Given the description of an element on the screen output the (x, y) to click on. 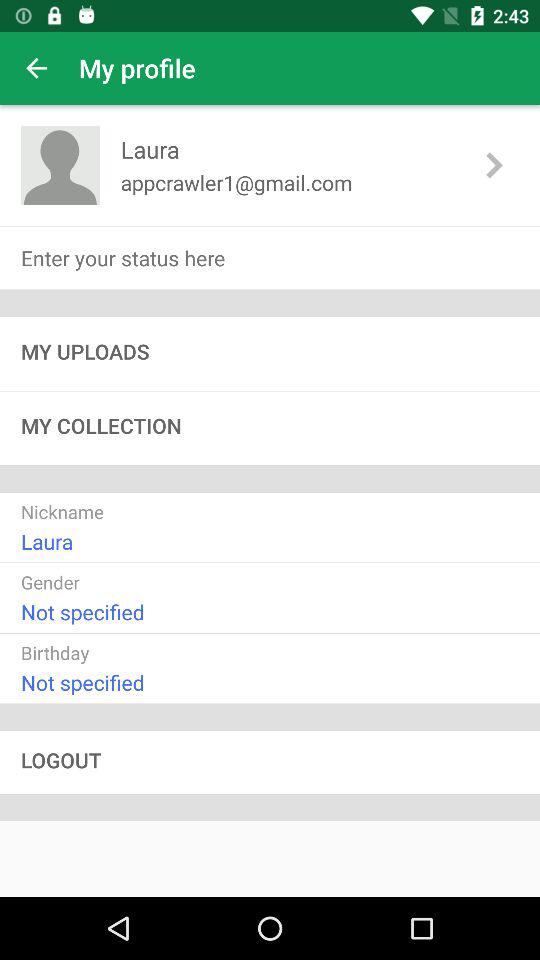
select my uploads (270, 353)
